Given the description of an element on the screen output the (x, y) to click on. 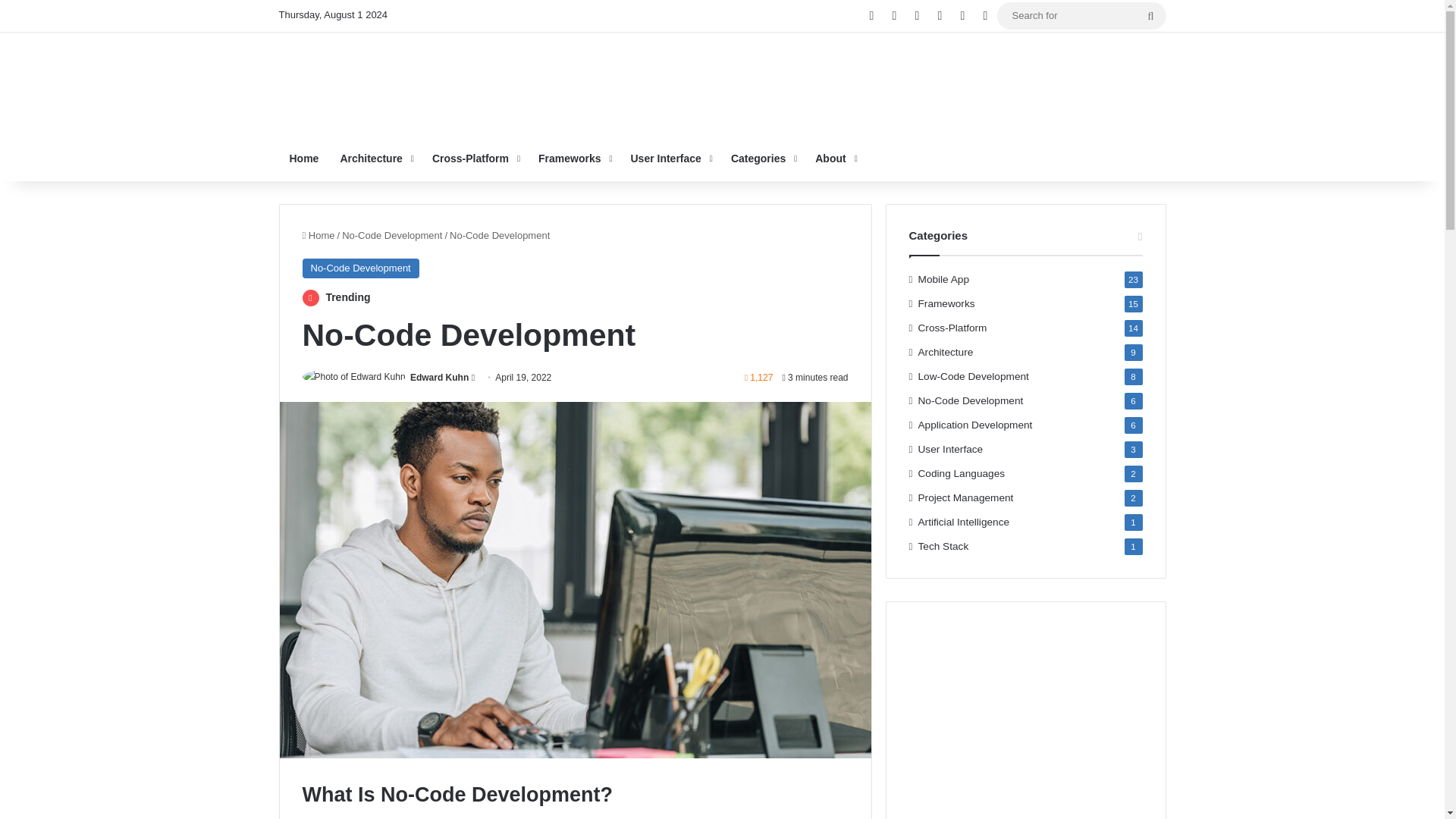
Home (304, 157)
About (834, 157)
Edward Kuhn (439, 377)
Search for (1150, 15)
Search for (1081, 15)
No-Code Development (392, 235)
Apps Developed (320, 71)
Home (317, 235)
Cross-Platform (474, 157)
No-Code Development (360, 268)
Frameworks (573, 157)
Edward Kuhn (439, 377)
User Interface (670, 157)
Categories (762, 157)
